Given the description of an element on the screen output the (x, y) to click on. 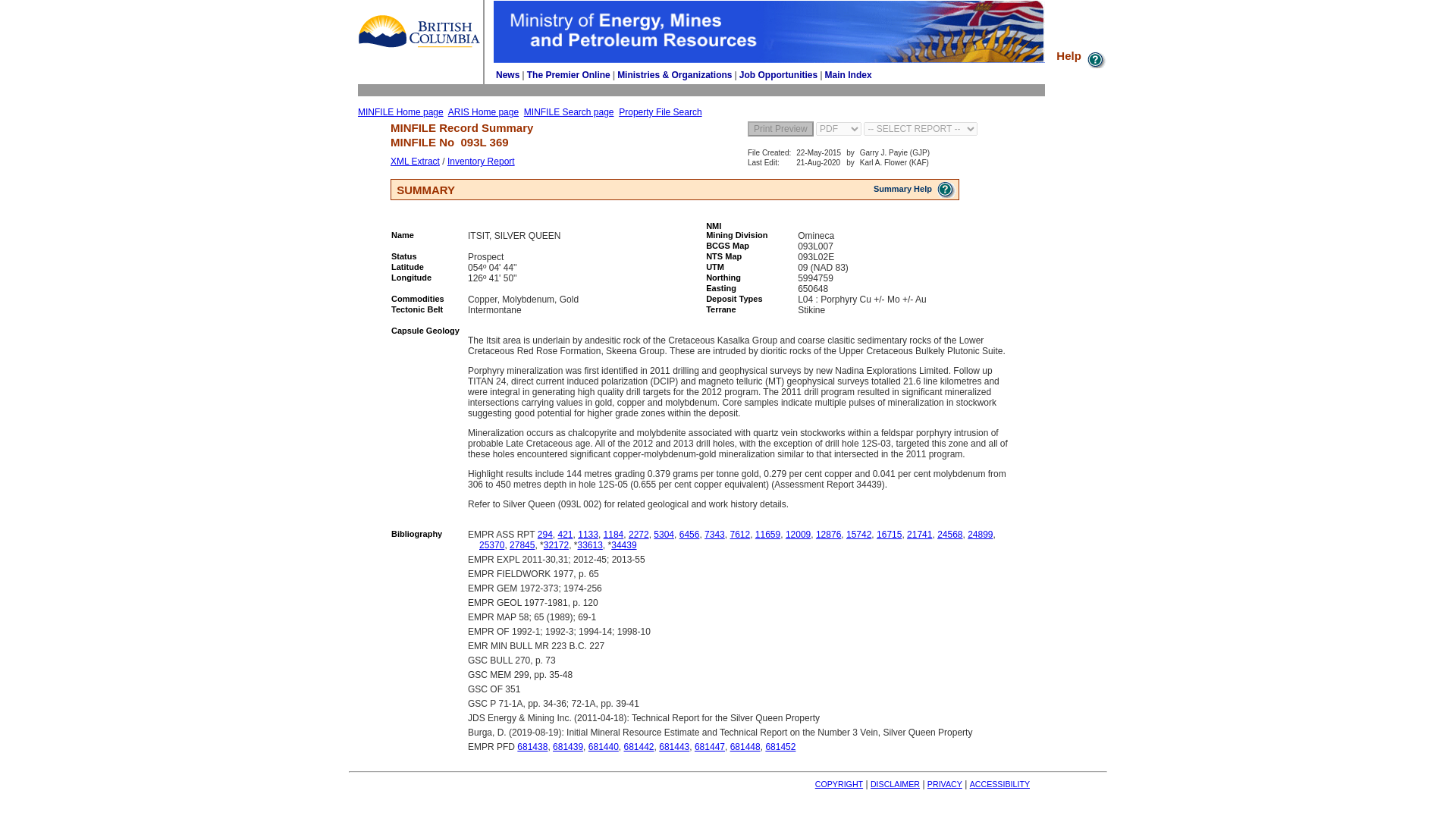
681440 (603, 747)
34439 (623, 544)
33613 (589, 544)
1184 (614, 534)
7612 (739, 534)
The Premier Online (568, 74)
MINFILE Search page (569, 112)
681439 (568, 747)
News (507, 74)
Inventory Report (480, 161)
2272 (638, 534)
681438 (531, 747)
MINFILE Home page (401, 112)
Property File Search (659, 112)
421 (565, 534)
